Given the description of an element on the screen output the (x, y) to click on. 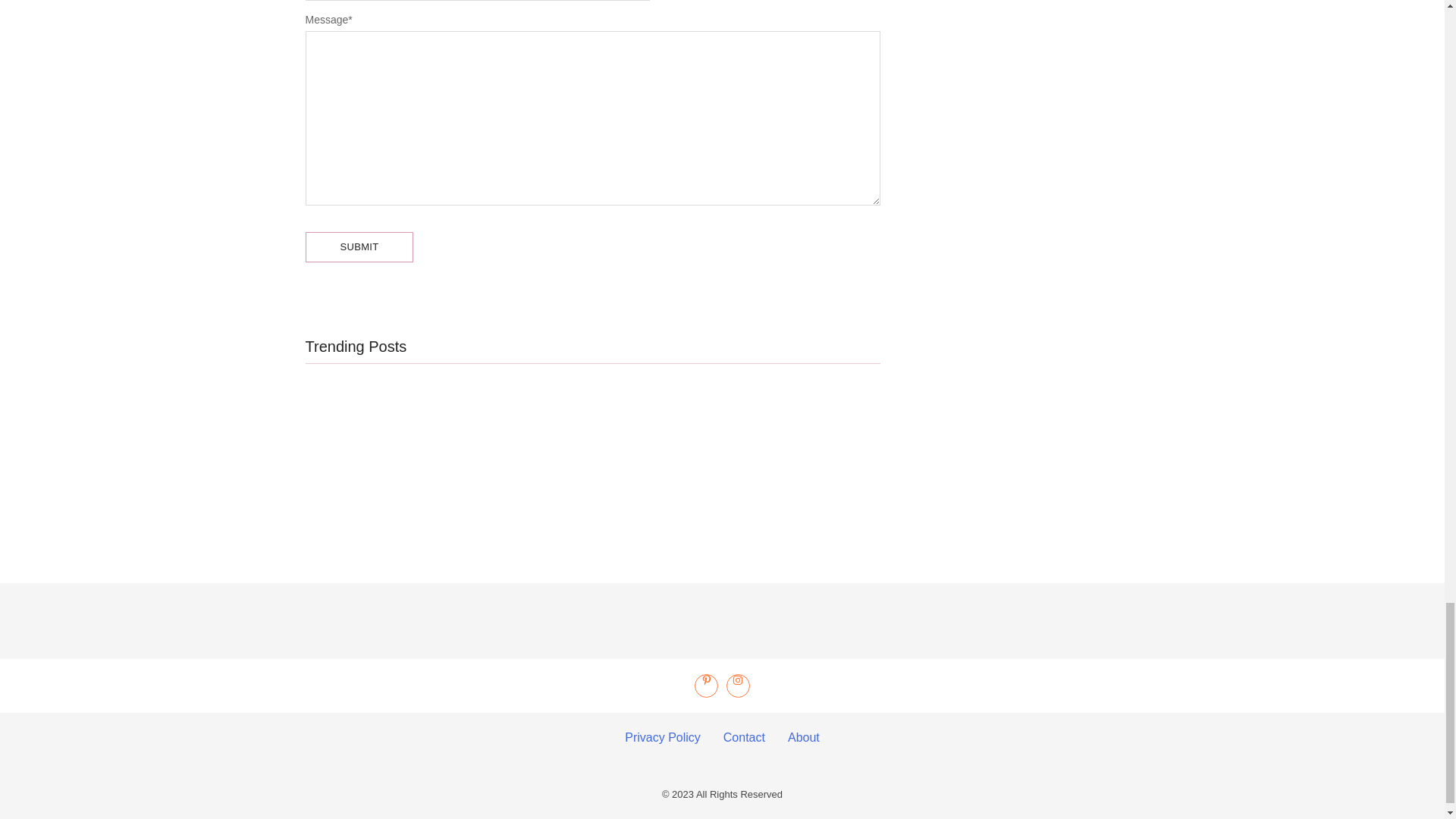
Submit (358, 246)
